Given the description of an element on the screen output the (x, y) to click on. 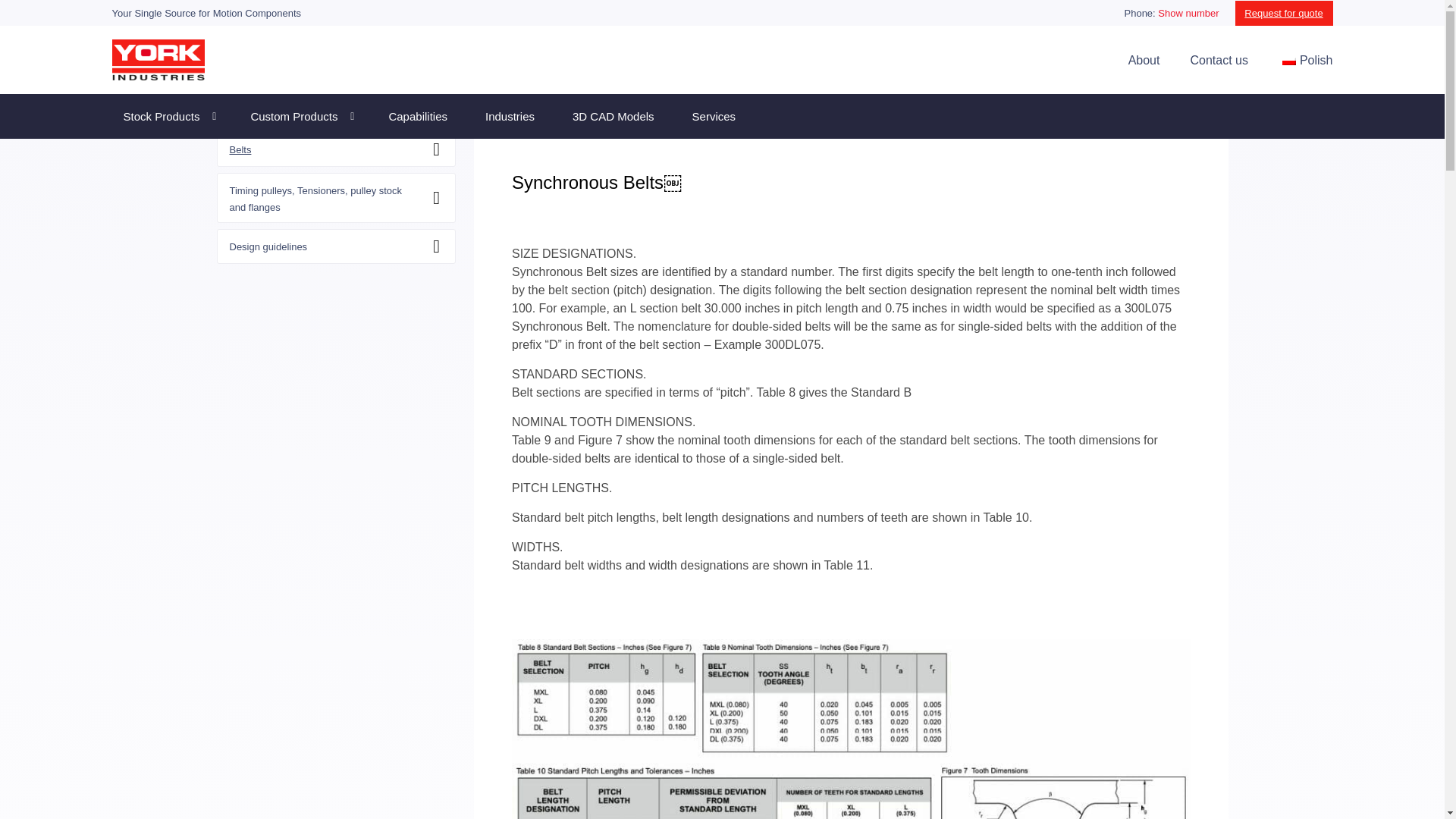
Stock Products (168, 116)
3D CAD Models (612, 116)
Custom Products (299, 116)
Request for quote (1283, 12)
Polish (1298, 59)
Capabilities (417, 116)
About (1136, 59)
Services (714, 116)
Polish (1288, 60)
Industries (510, 116)
Belts (239, 149)
Contact us (1210, 59)
